Given the description of an element on the screen output the (x, y) to click on. 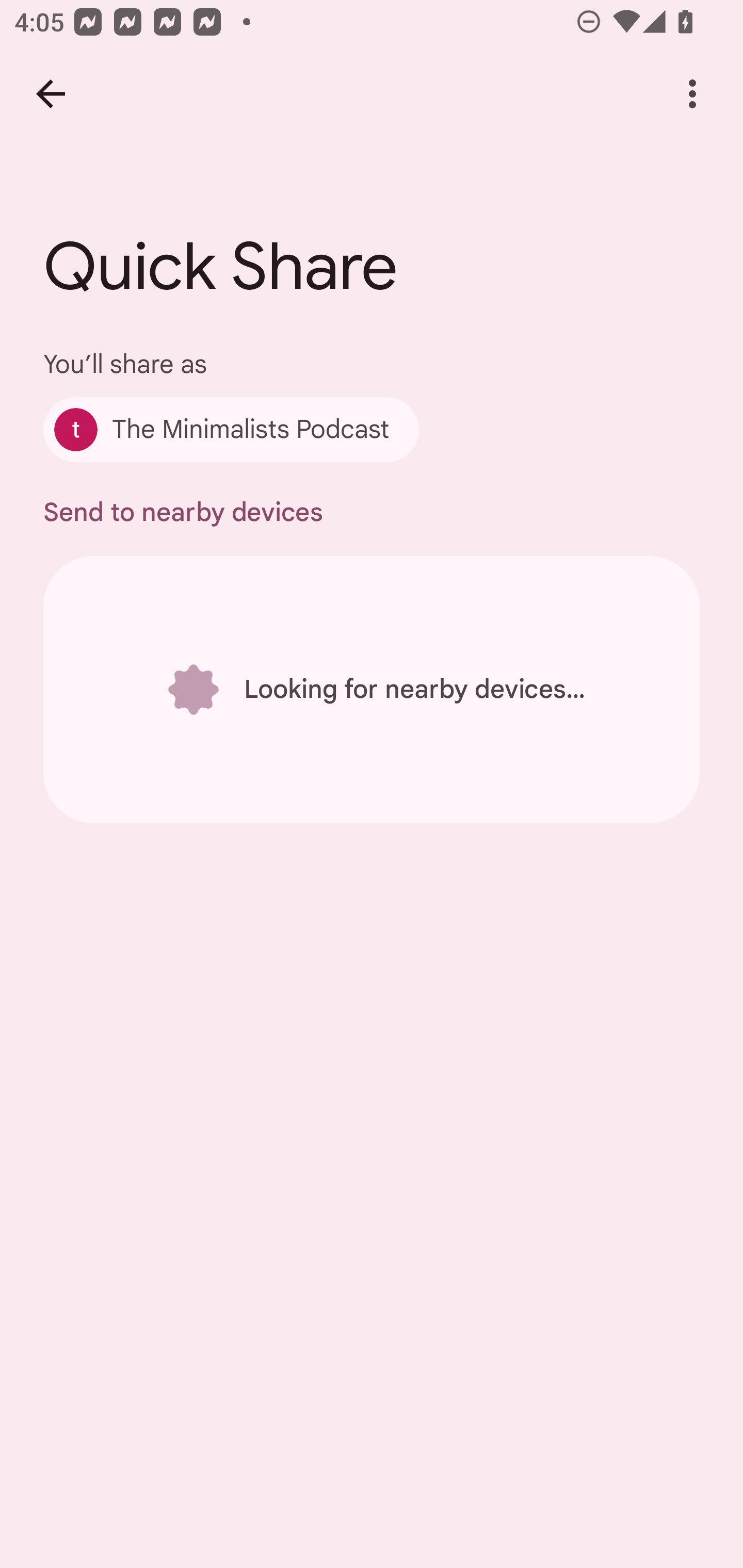
Back (50, 93)
More (692, 93)
The Minimalists Podcast (231, 429)
